Given the description of an element on the screen output the (x, y) to click on. 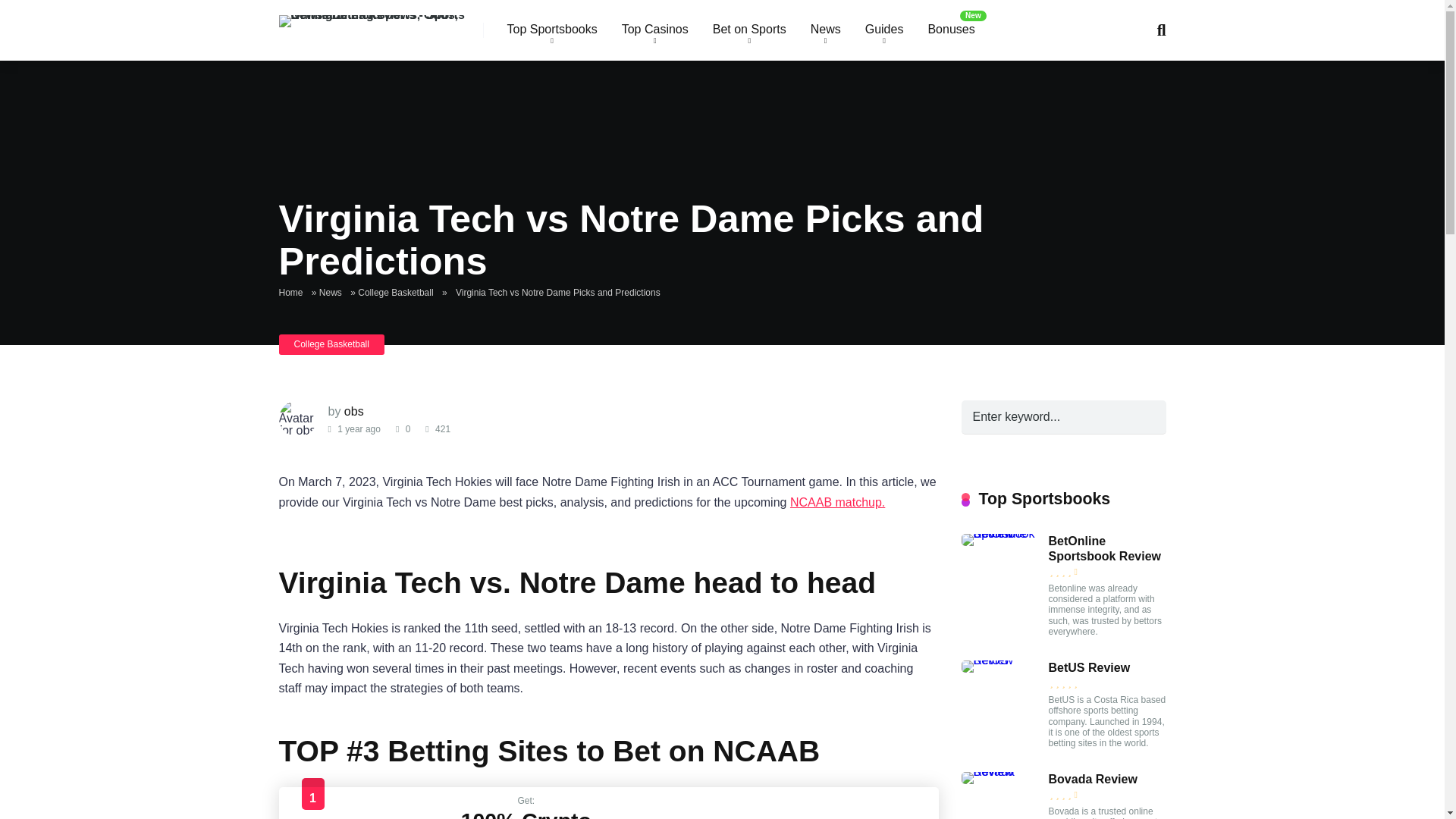
Top Casinos (655, 30)
Posts by obs (353, 410)
Gravatar for obs (298, 418)
Top Sportsbooks (551, 30)
BetOnline Sportsbook Review (1004, 533)
Bet on Sports (748, 30)
